Given the description of an element on the screen output the (x, y) to click on. 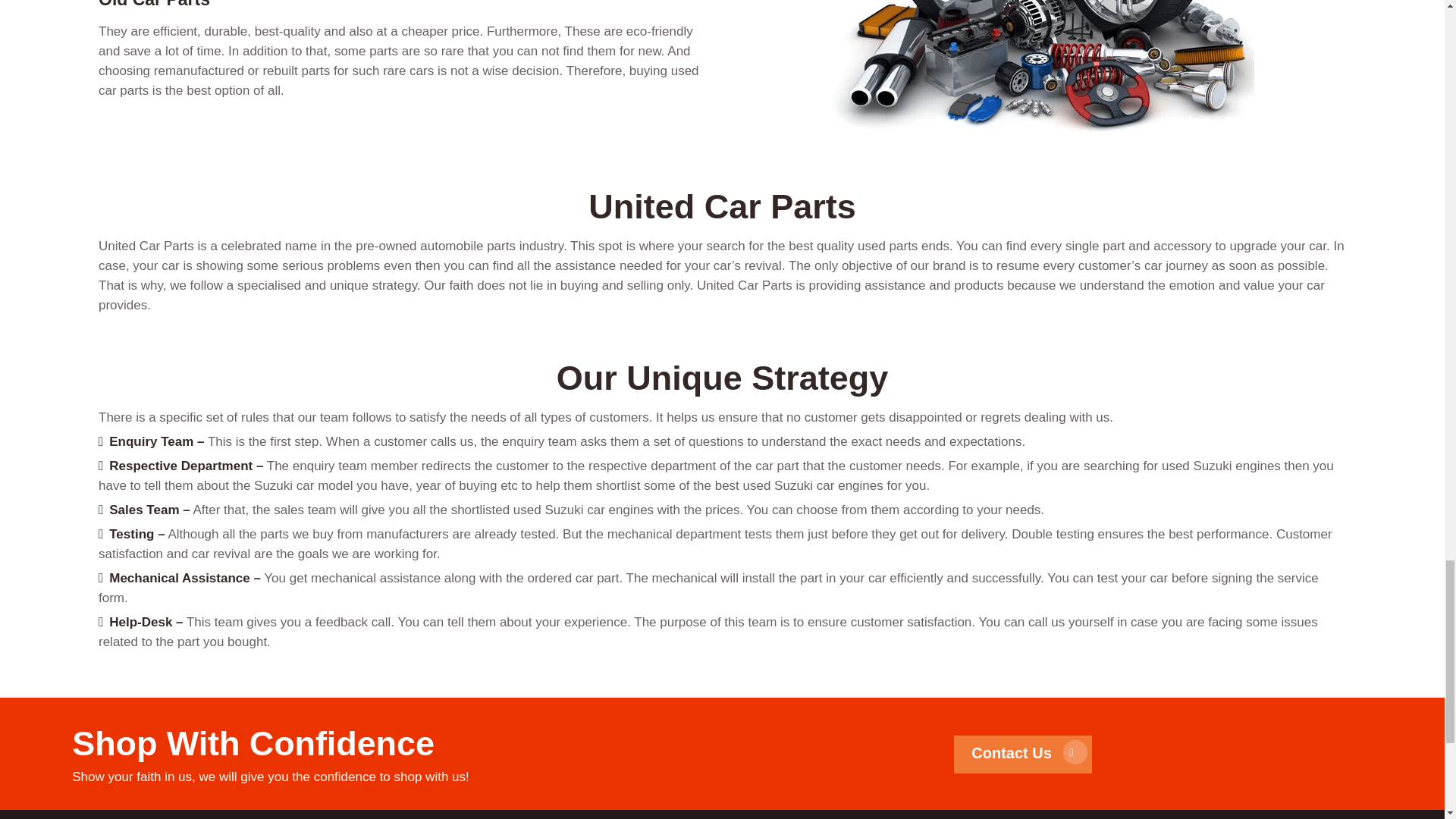
Car-Parts (1039, 72)
